Given the description of an element on the screen output the (x, y) to click on. 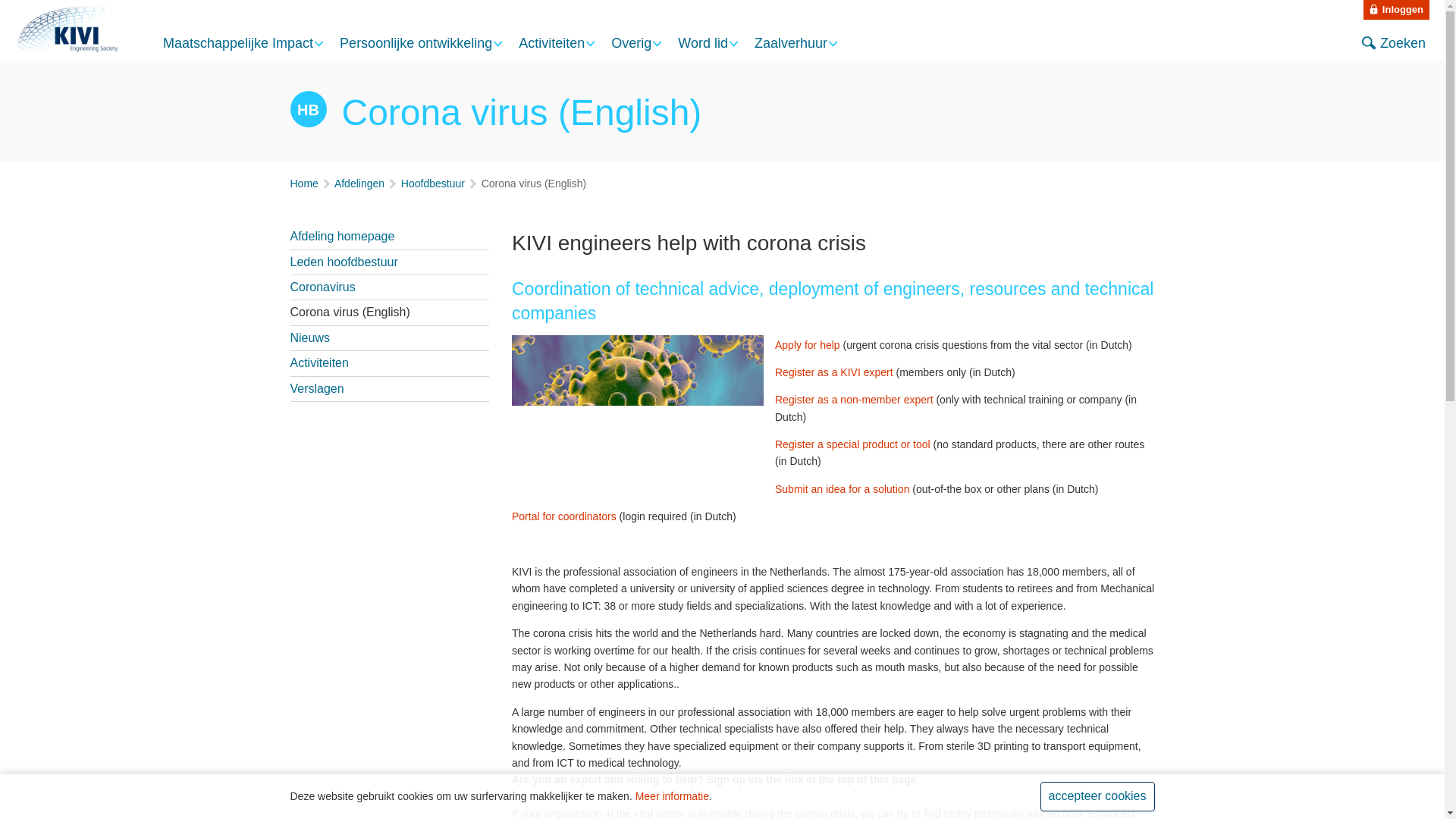
Maatschappelijke Impact (238, 43)
Zoeken (1393, 43)
Home (303, 183)
Inloggen (1395, 9)
Persoonlijke ontwikkeling (415, 43)
Word lid (703, 43)
Koninklijk Instituut Van Ingenieurs (68, 30)
Overig (630, 43)
Activiteiten (551, 43)
Zaalverhuur (790, 43)
